Given the description of an element on the screen output the (x, y) to click on. 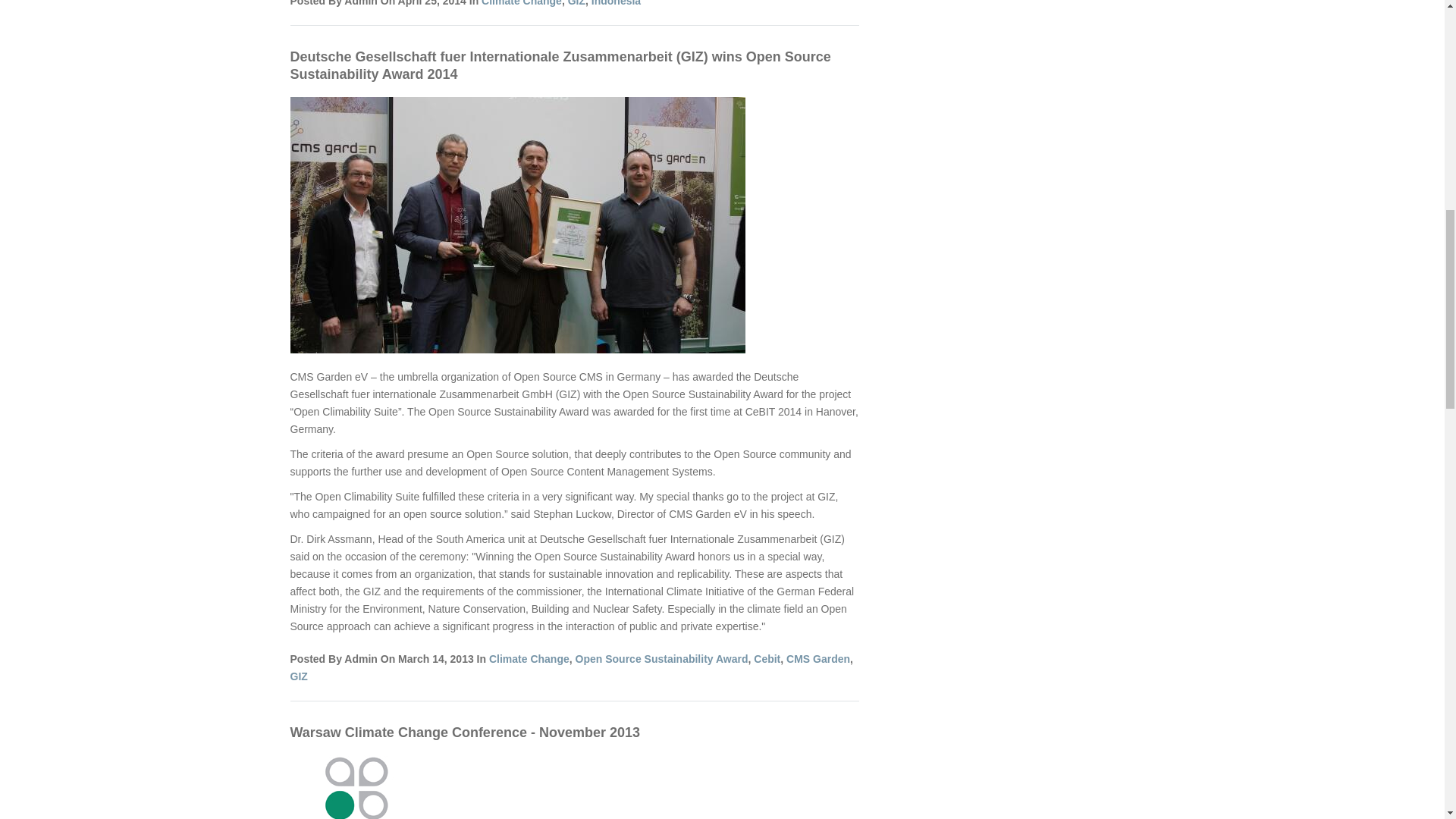
CMS Garden (818, 658)
Cebit (767, 658)
Climate Change (529, 658)
Indonesia (615, 3)
Climate Change (521, 3)
GIZ (576, 3)
Open Source Sustainability Award (661, 658)
GIZ (298, 676)
Warsaw Climate Change Conference - November 2013 (464, 732)
